Given the description of an element on the screen output the (x, y) to click on. 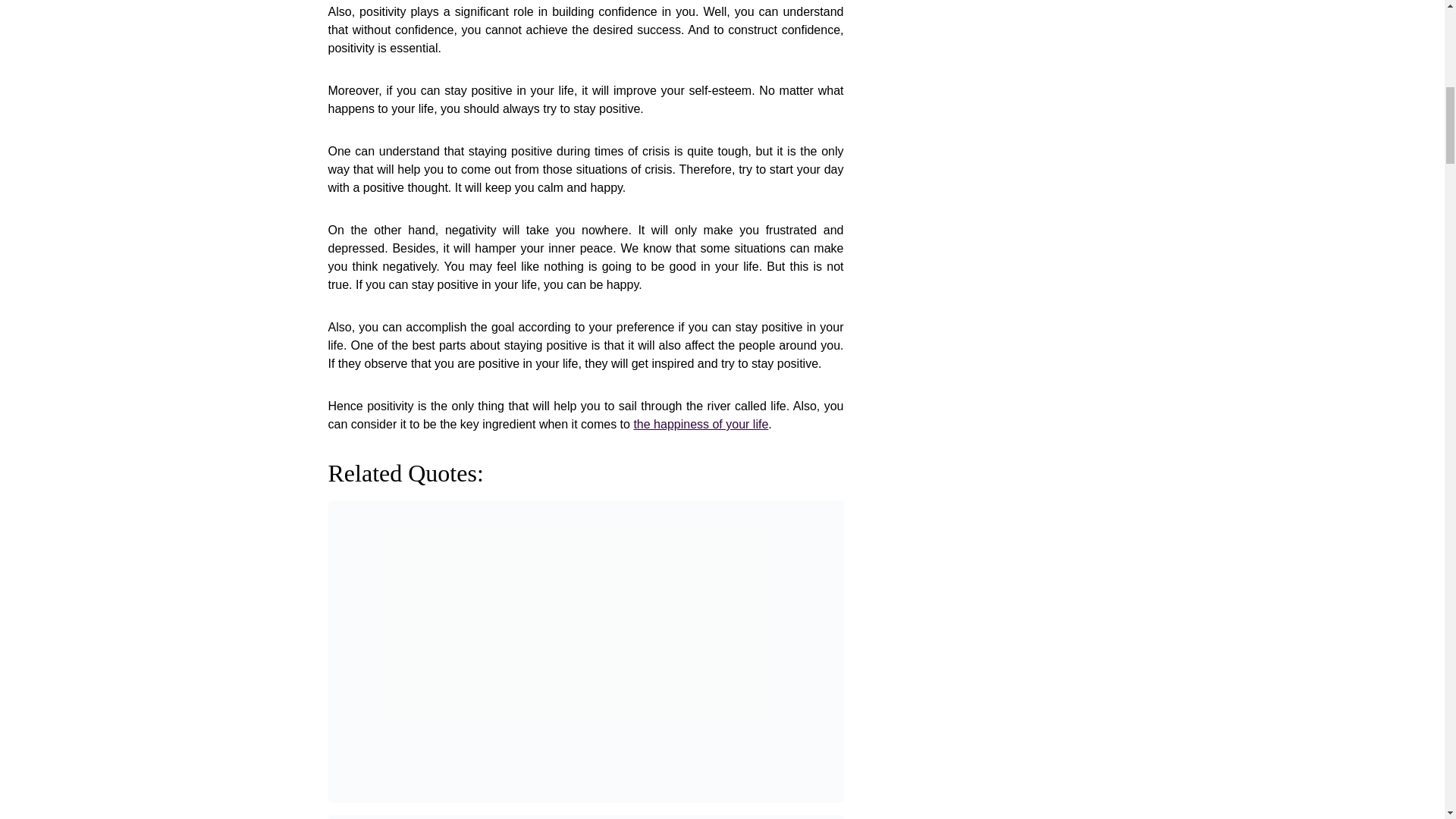
the happiness of your life (700, 423)
Be Happy Life Is Short Quotes (700, 423)
